Given the description of an element on the screen output the (x, y) to click on. 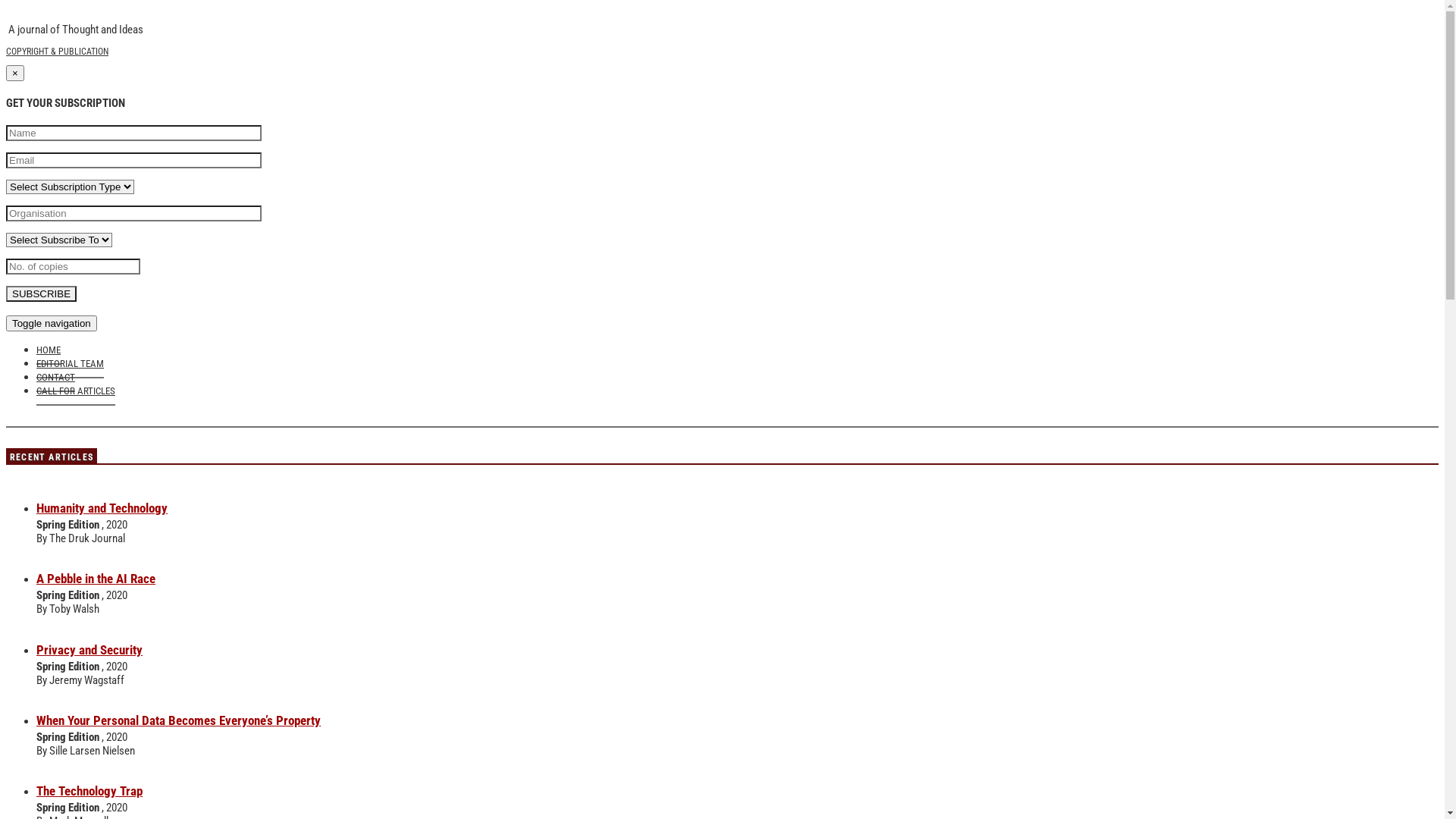
The Technology Trap Element type: text (89, 790)
A Pebble in the AI Race Element type: text (95, 578)
Humanity and Technology Element type: text (101, 507)
COPYRIGHT & PUBLICATION Element type: text (57, 51)
Toggle navigation Element type: text (51, 323)
CALL FOR ARTICLES Element type: text (75, 387)
Privacy and Security Element type: text (89, 649)
SUBSCRIBE Element type: text (41, 293)
CONTACT Element type: text (55, 374)
EDITORIAL TEAM Element type: text (69, 360)
HOME Element type: text (48, 346)
